Given the description of an element on the screen output the (x, y) to click on. 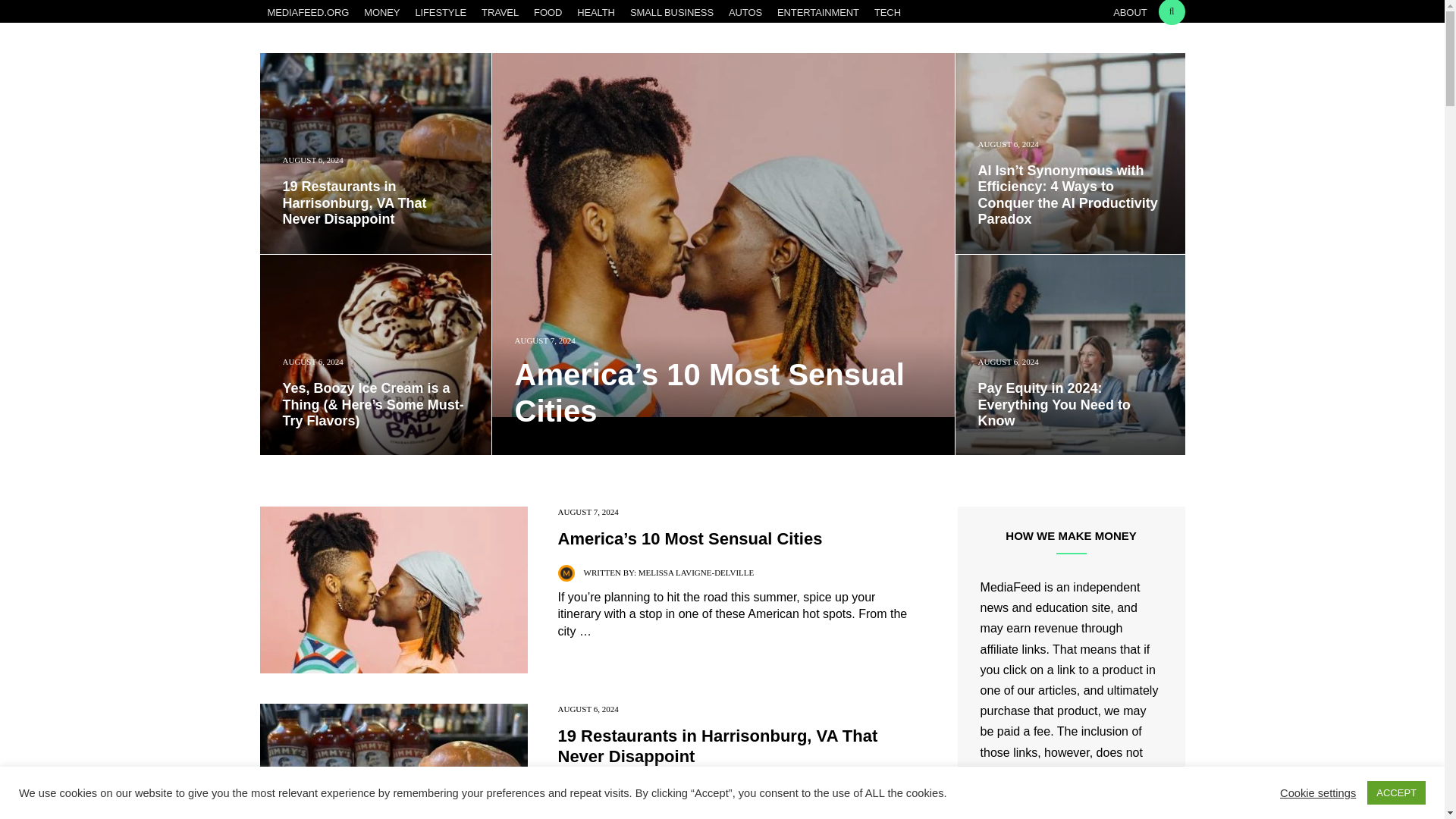
ABOUT (1129, 13)
TRAE BODGE (664, 788)
Posts by Trae Bodge (664, 788)
MELISSA LAVIGNE-DELVILLE (696, 572)
MONEY (381, 13)
TRAVEL (499, 13)
ENTERTAINMENT (818, 13)
HEALTH (596, 13)
SMALL BUSINESS (671, 13)
Pay Equity in 2024: Everything You Need to Know (1070, 405)
